Given the description of an element on the screen output the (x, y) to click on. 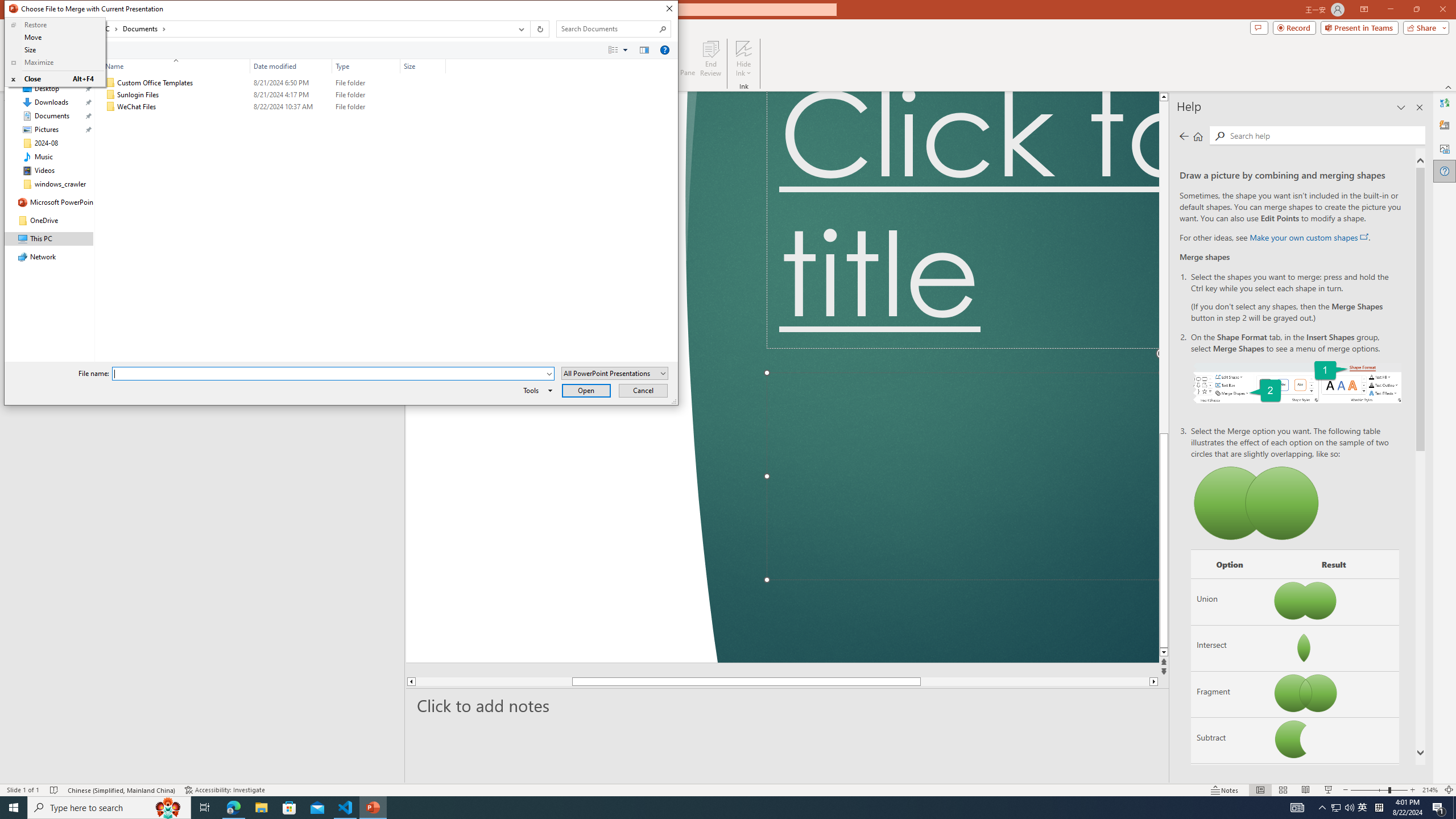
WeChat Files (273, 106)
Name (173, 65)
Recent locations (44, 28)
Zoom 214% (1430, 790)
New folder (82, 49)
Maximize (54, 62)
Up to "This PC" (Alt + Up Arrow) (57, 29)
Command Module (341, 49)
Slide Notes (787, 705)
Start (13, 807)
View Slider (625, 49)
Task View (204, 807)
